Given the description of an element on the screen output the (x, y) to click on. 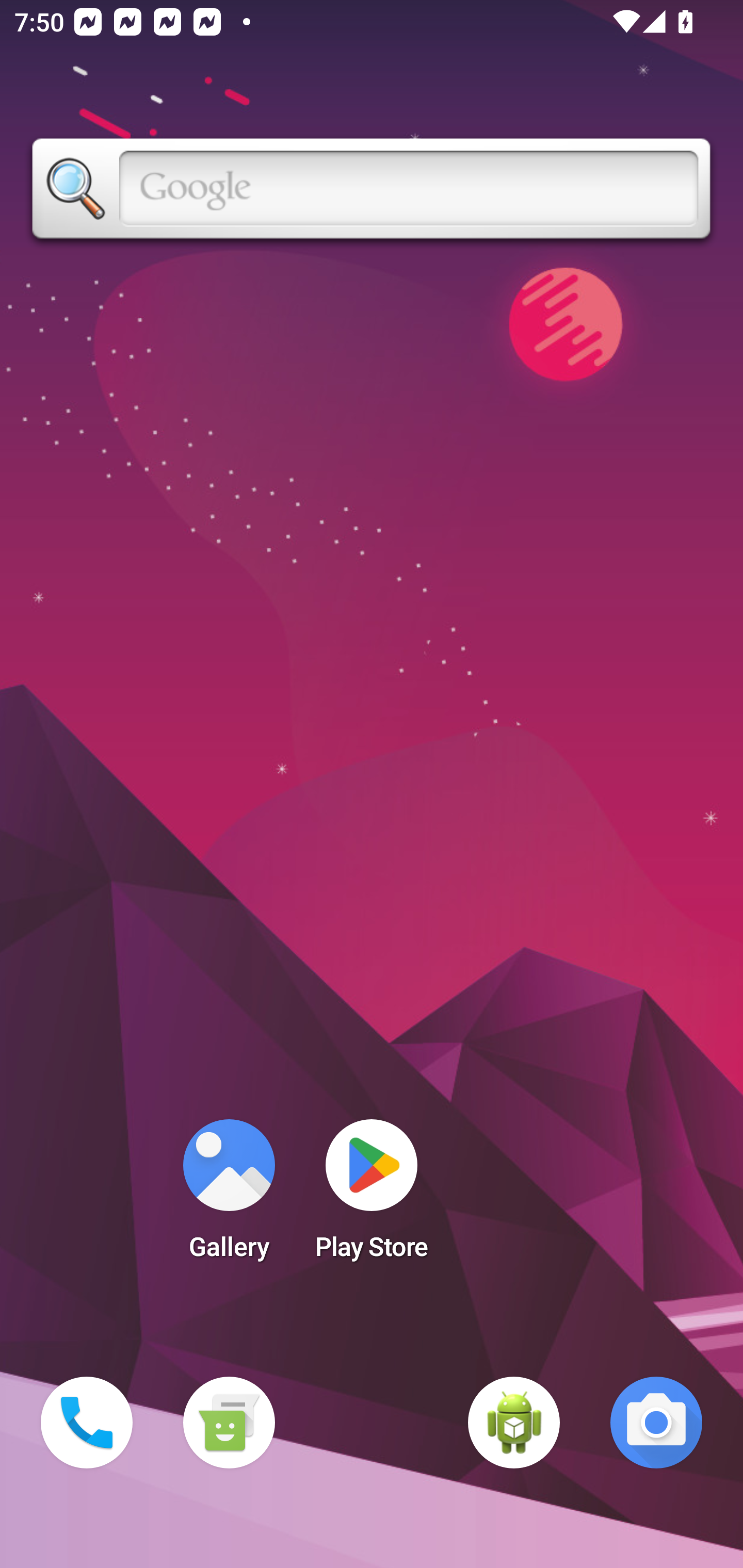
Gallery (228, 1195)
Play Store (371, 1195)
Phone (86, 1422)
Messaging (228, 1422)
WebView Browser Tester (513, 1422)
Camera (656, 1422)
